Given the description of an element on the screen output the (x, y) to click on. 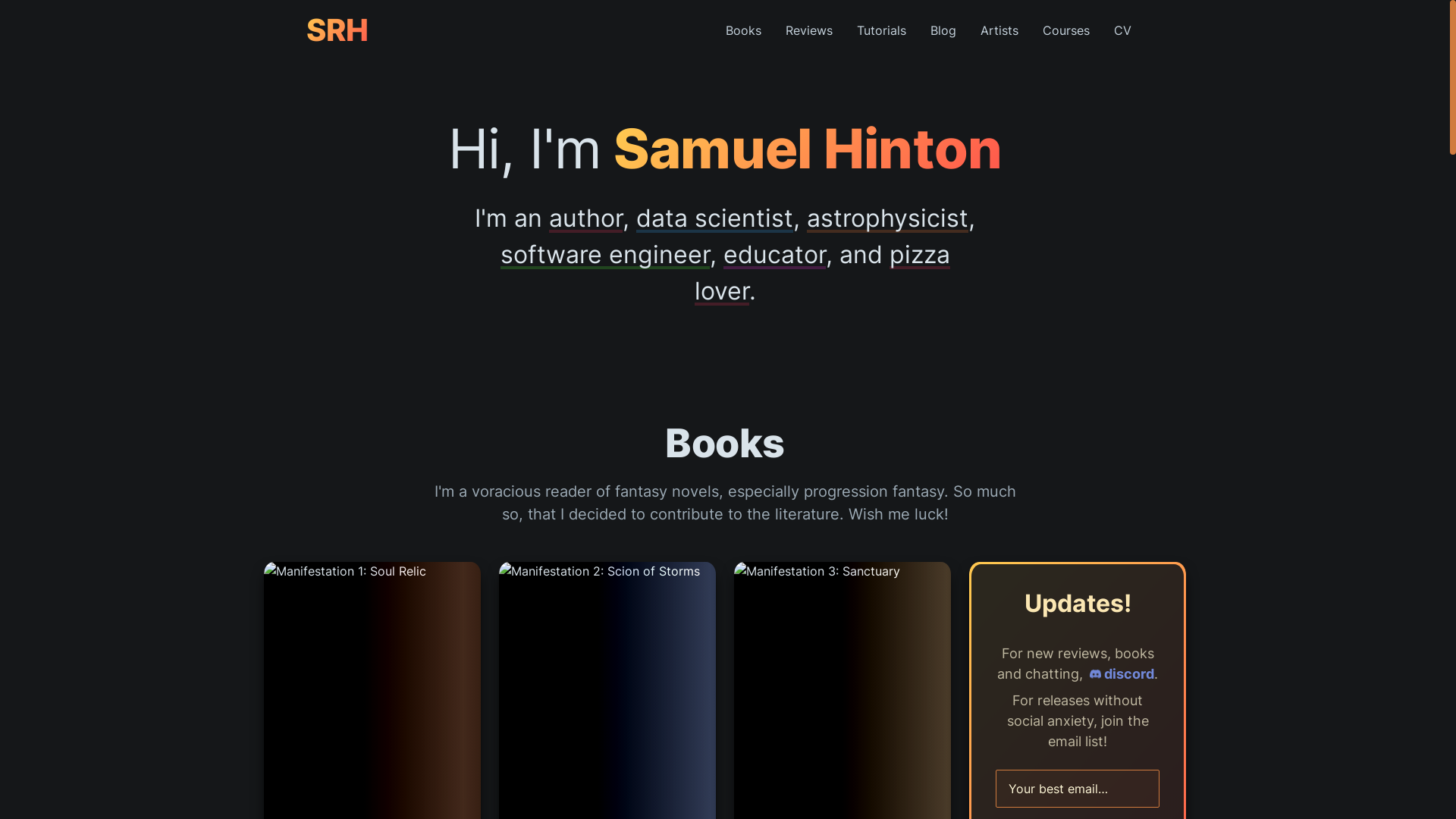
software engineer Element type: text (604, 254)
CV Element type: text (1122, 30)
Blog Element type: text (943, 30)
Artists Element type: text (999, 30)
discord Element type: text (1120, 673)
Tutorials Element type: text (881, 30)
pizza lover Element type: text (822, 272)
data scientist Element type: text (714, 217)
educator Element type: text (774, 254)
Books Element type: text (743, 30)
astrophysicist Element type: text (887, 217)
Reviews Element type: text (808, 30)
Courses Element type: text (1065, 30)
SRH Element type: text (337, 30)
author Element type: text (585, 217)
